Given the description of an element on the screen output the (x, y) to click on. 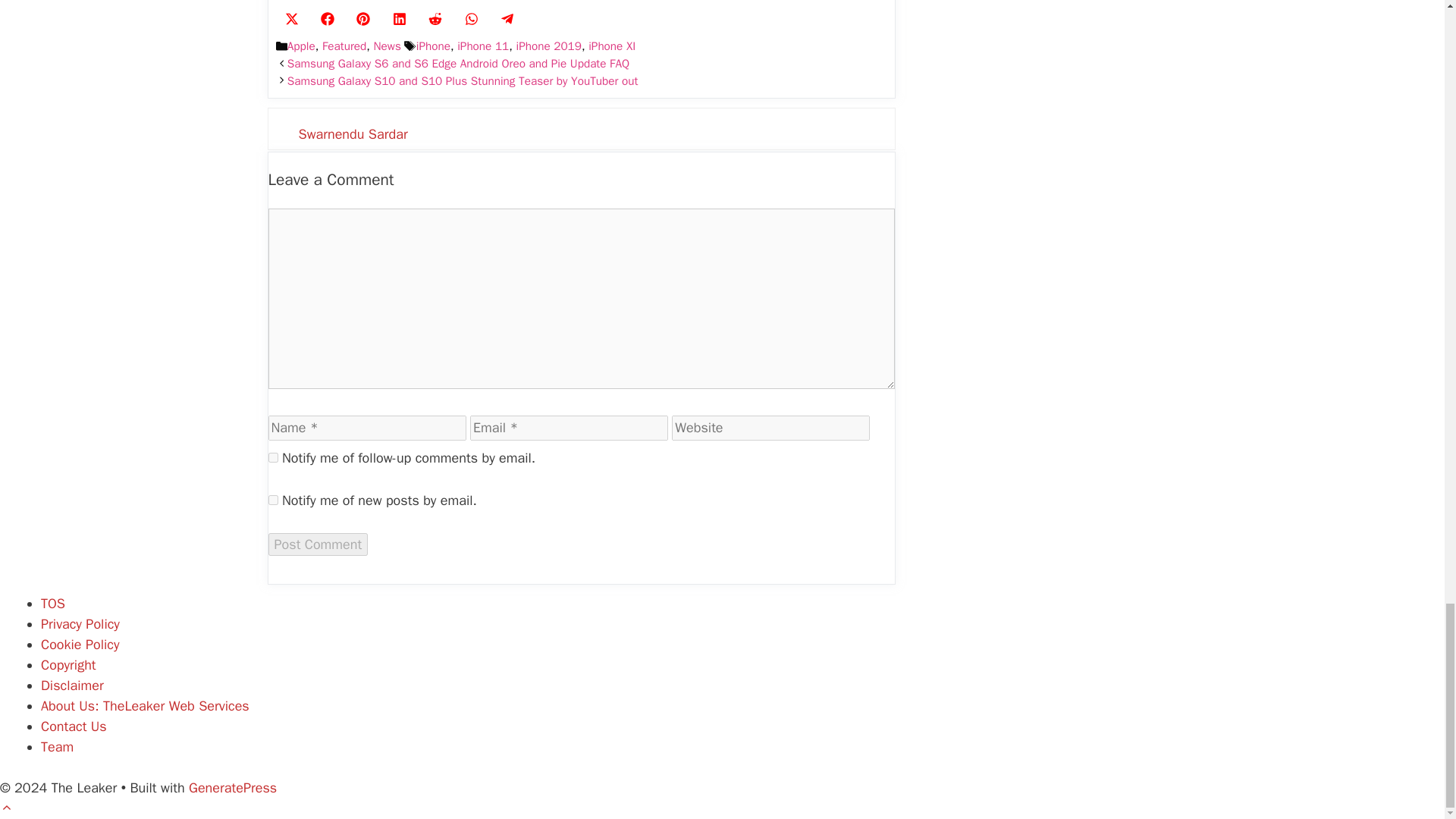
subscribe (272, 457)
subscribe (272, 500)
Post Comment (317, 544)
